Given the description of an element on the screen output the (x, y) to click on. 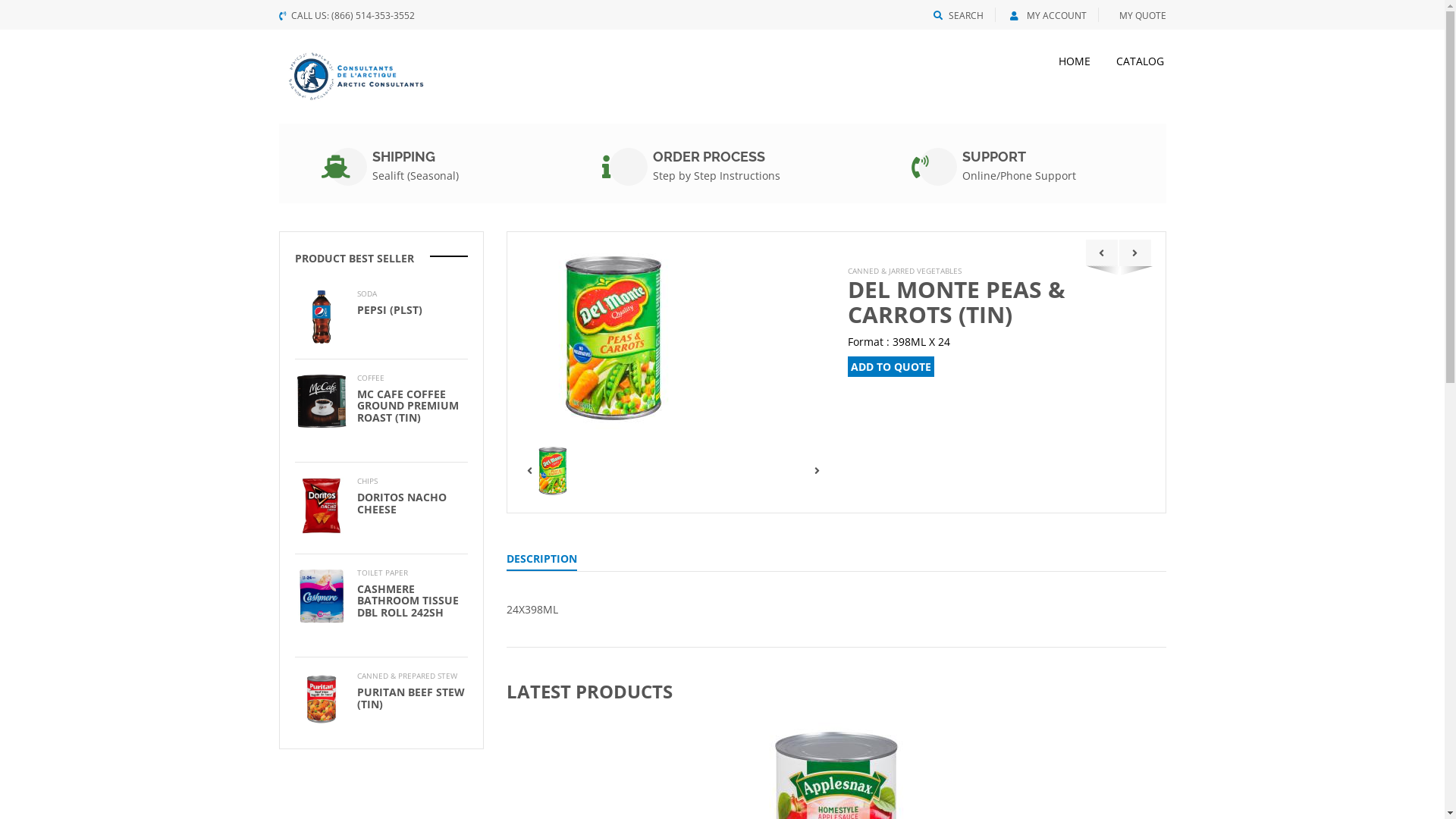
MY QUOTE Element type: text (1139, 15)
DEL MONTE PEAS & CARROTS (TIN) Element type: text (956, 301)
DESCRIPTION Element type: text (541, 561)
PURITAN BEEF STEW (TIN) Element type: text (410, 697)
ORDER PROCESS Element type: text (708, 156)
PEPSI (PLST) Element type: text (388, 309)
DORITOS NACHO CHEESE Element type: text (400, 502)
HOME Element type: text (1073, 60)
ADD TO QUOTE Element type: text (890, 366)
MY ACCOUNT Element type: text (1048, 15)
SUPPORT Element type: text (994, 156)
MC CAFE COFFEE GROUND PREMIUM ROAST (TIN) Element type: text (407, 405)
SEARCH Element type: text (957, 15)
CATALOG Element type: text (1133, 60)
CASHMERE BATHROOM TISSUE DBL ROLL 242SH Element type: text (407, 600)
SHIPPING Element type: text (403, 156)
